Given the description of an element on the screen output the (x, y) to click on. 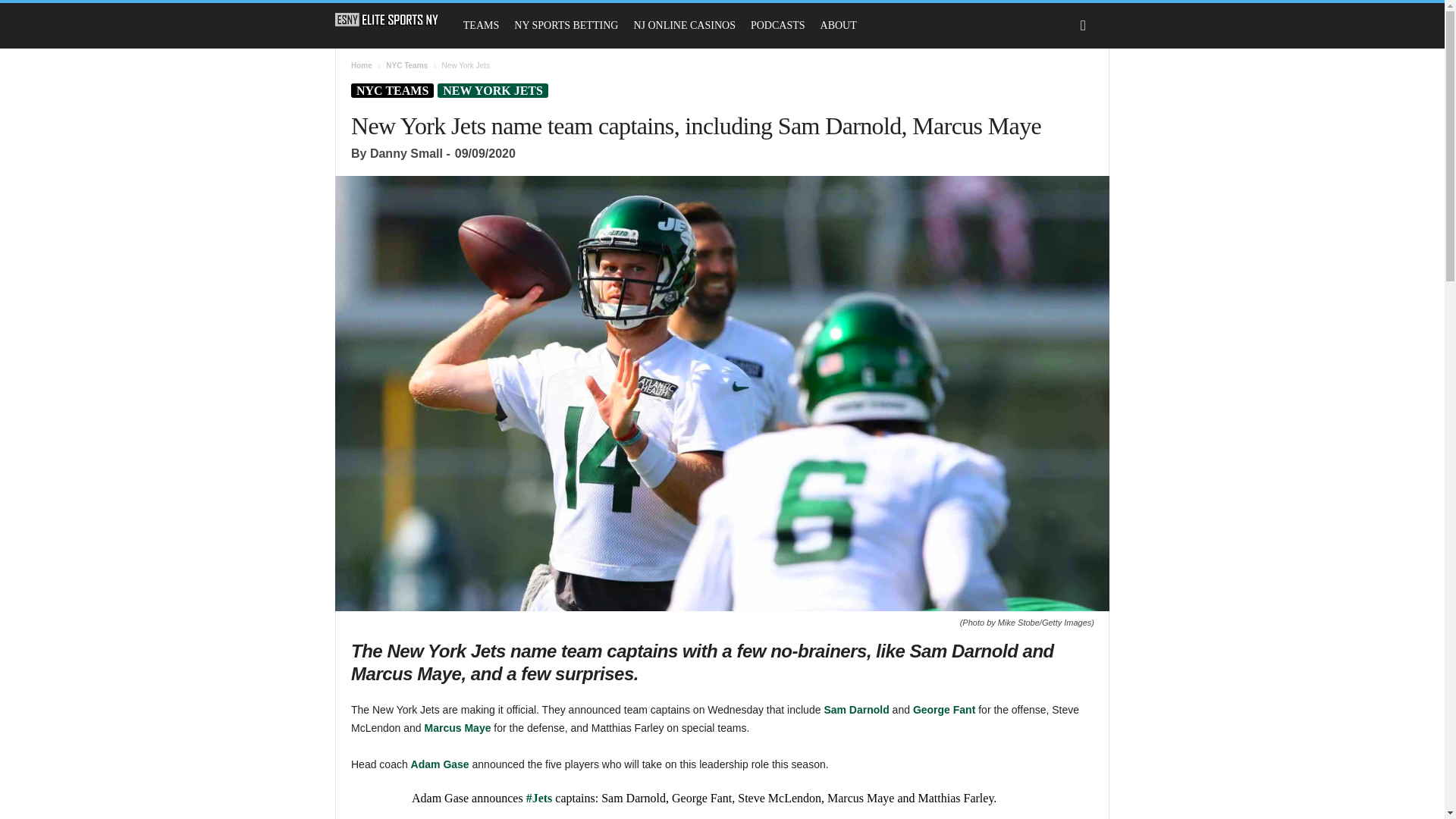
Elite Sports NY (386, 19)
TEAMS (480, 25)
Elite Sports NY (394, 19)
View all posts in NYC Teams (406, 65)
